Given the description of an element on the screen output the (x, y) to click on. 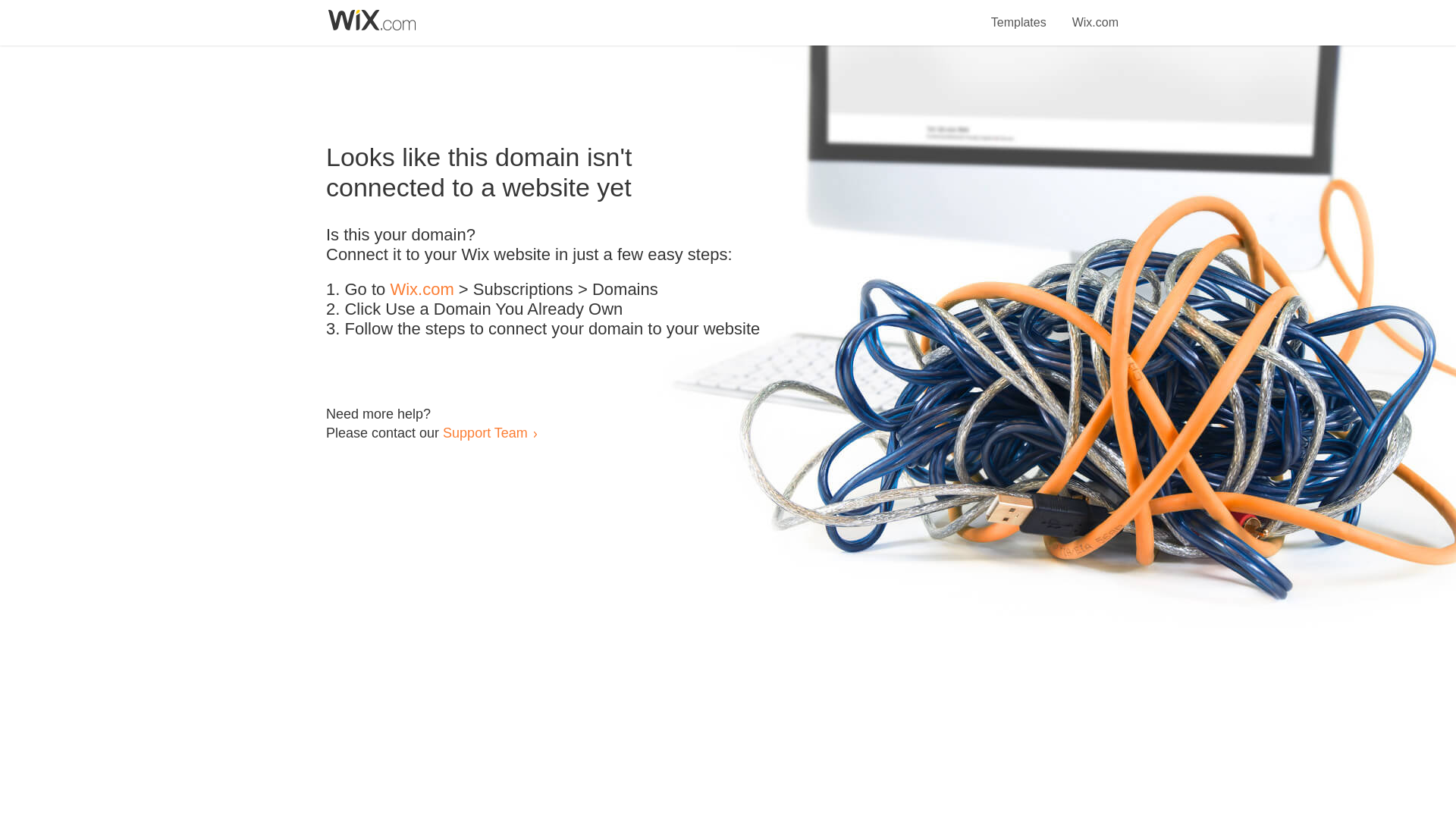
Templates (1018, 14)
Support Team (484, 432)
Wix.com (421, 289)
Wix.com (1095, 14)
